Given the description of an element on the screen output the (x, y) to click on. 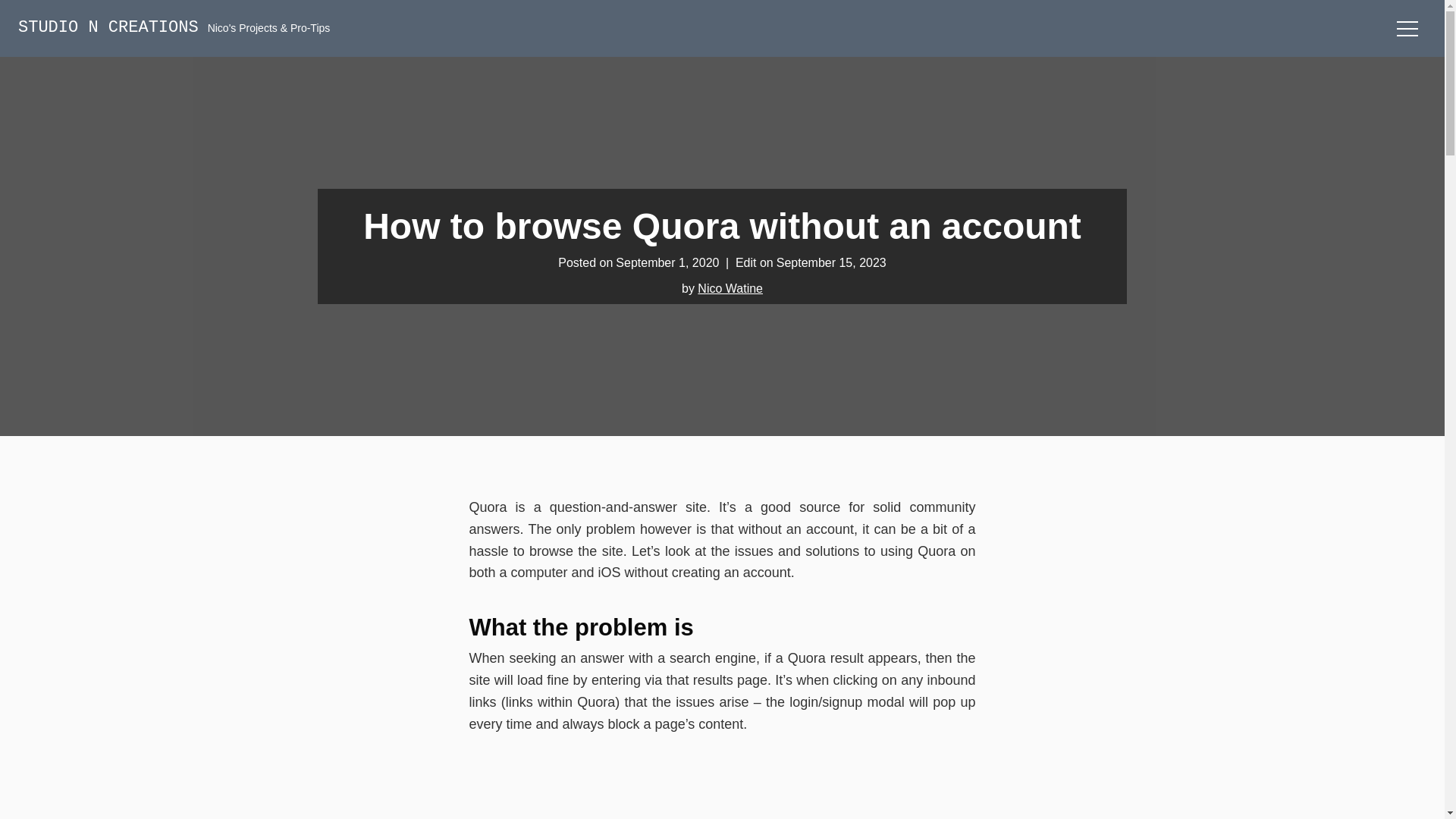
YouTube player (733, 792)
Nico Watine (729, 287)
STUDIO N CREATIONS (107, 27)
menu (1407, 27)
